Given the description of an element on the screen output the (x, y) to click on. 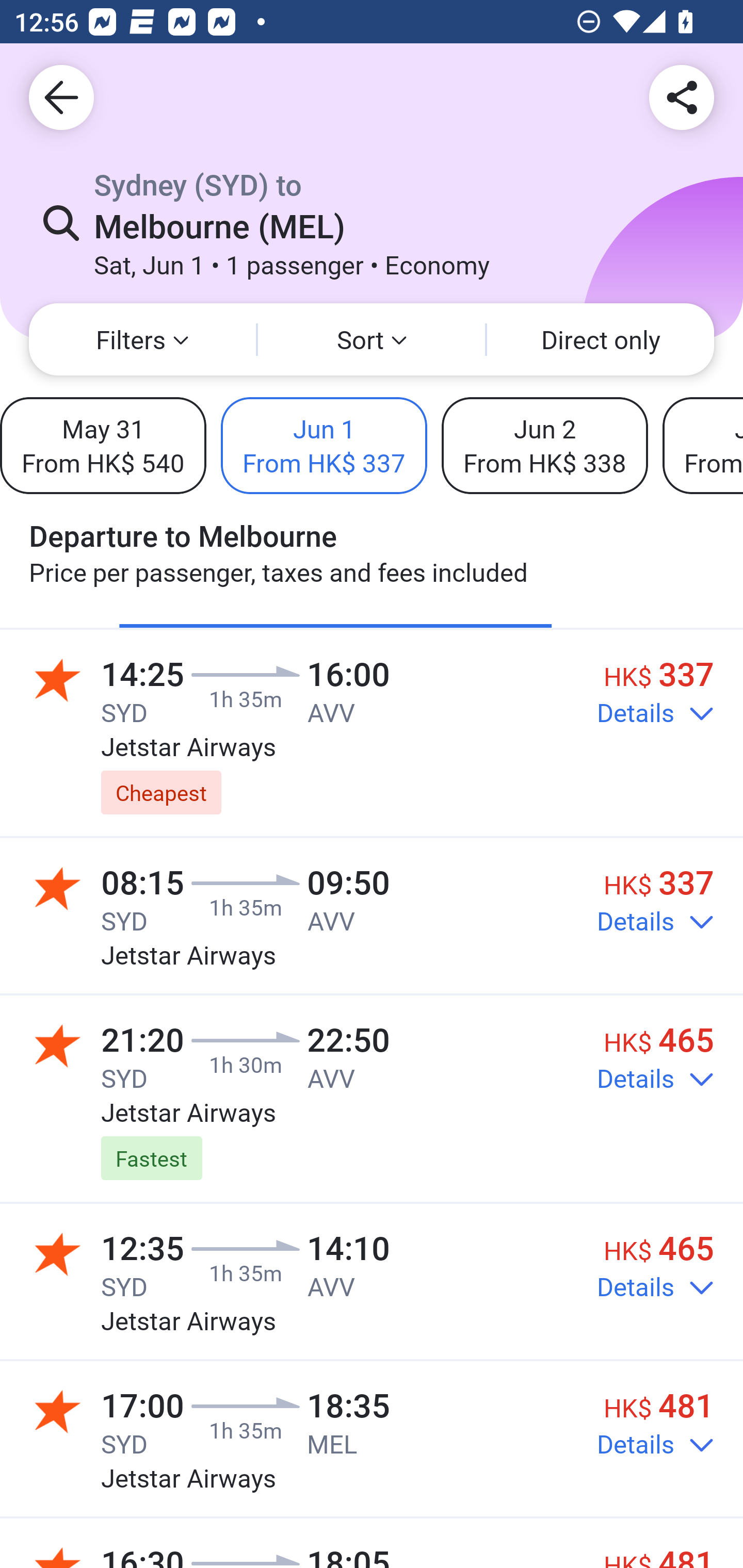
Filters (141, 339)
Sort (371, 339)
Direct only (600, 339)
May 31 From HK$ 540 (103, 444)
Jun 1 From HK$ 337 (323, 444)
Jun 2 From HK$ 338 (544, 444)
